Given the description of an element on the screen output the (x, y) to click on. 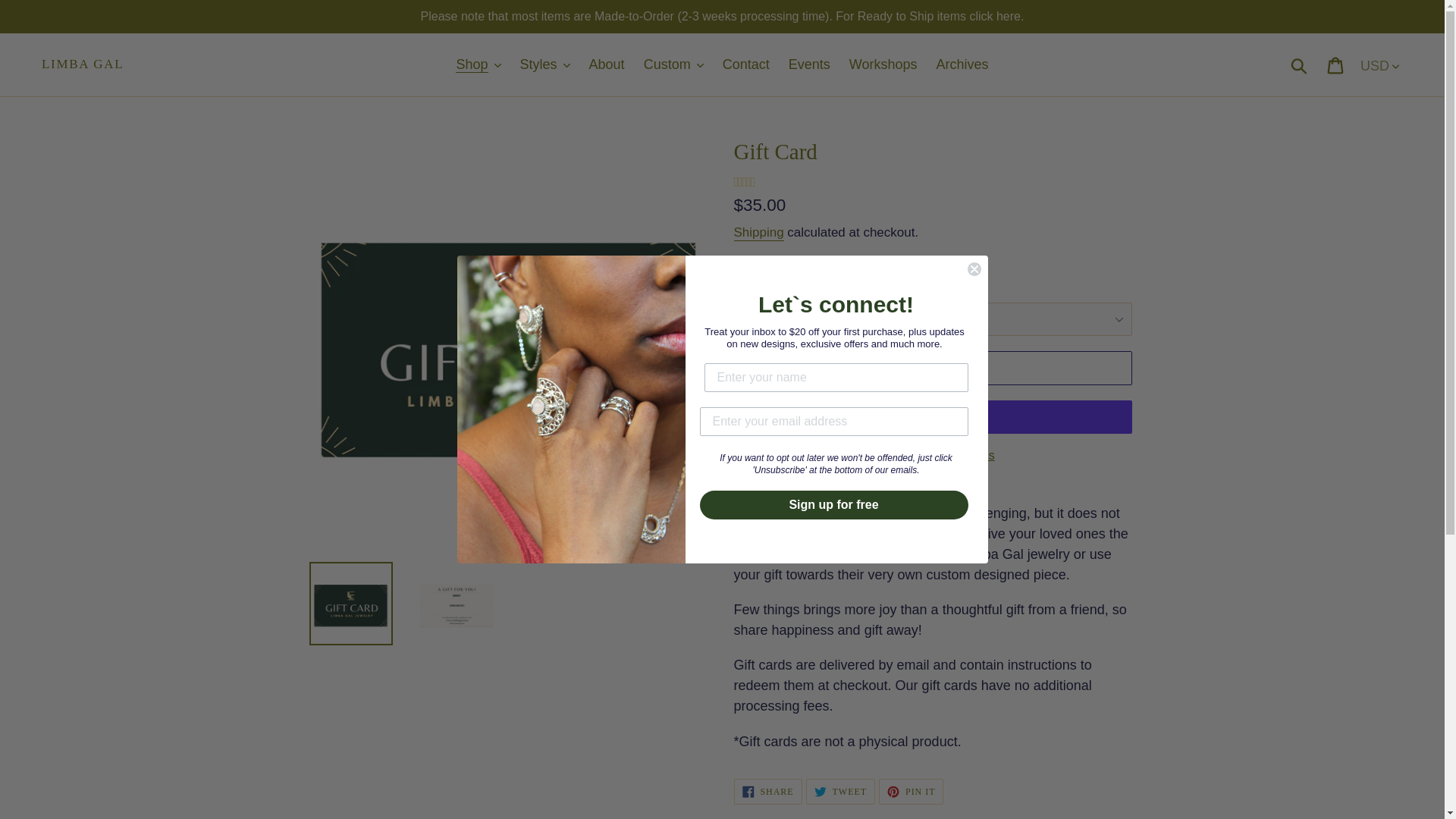
About (605, 64)
Archives (961, 64)
Cart (1336, 64)
Workshops (882, 64)
Submit (1300, 64)
Contact (745, 64)
LIMBA GAL (82, 64)
Events (809, 64)
